Given the description of an element on the screen output the (x, y) to click on. 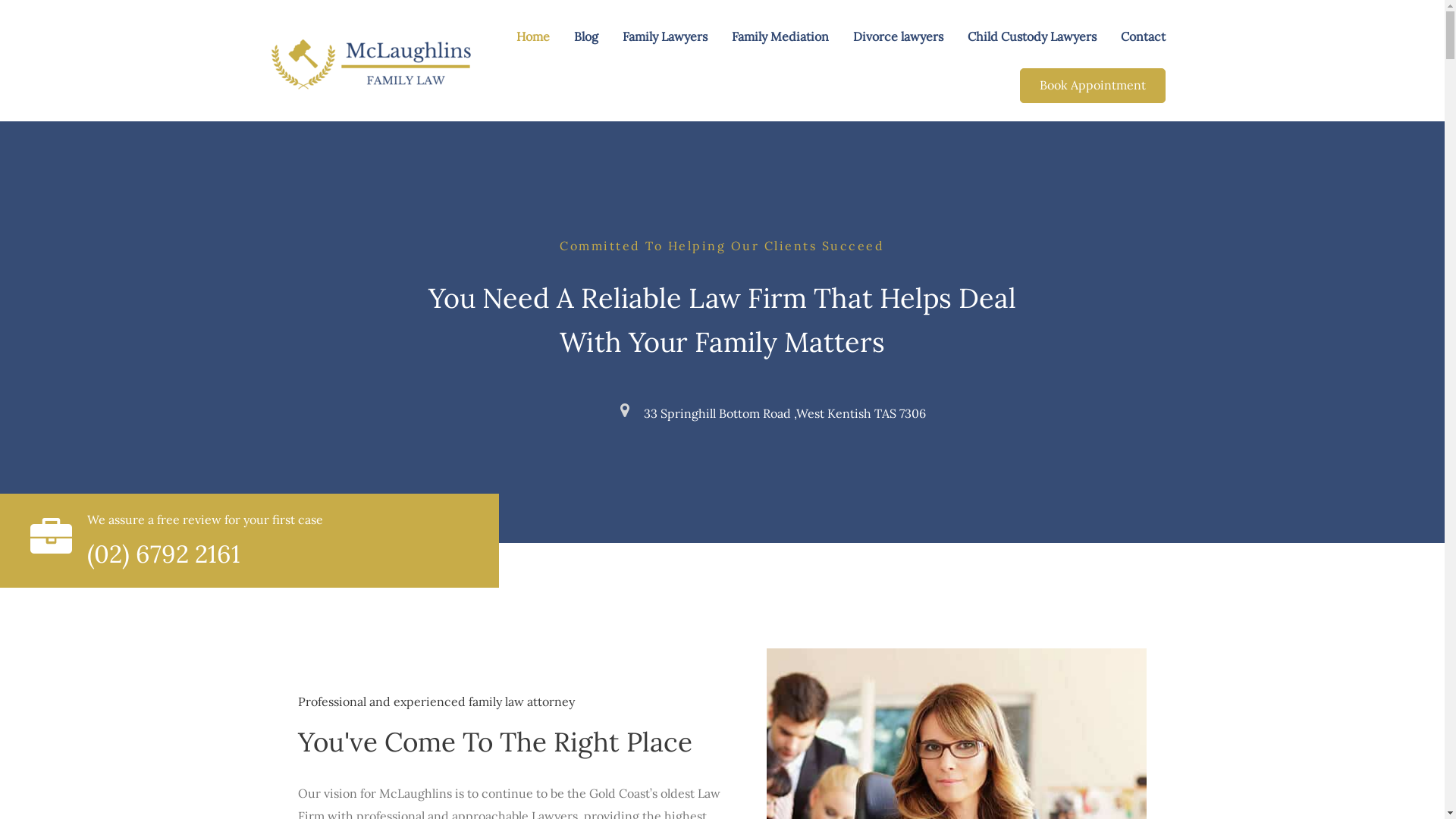
Family Mediation Element type: text (779, 36)
Book Appointment Element type: text (1091, 85)
We assure a free review for your first case Element type: text (205, 519)
Book Appointment Element type: text (1091, 84)
Blog Element type: text (585, 36)
Divorce lawyers Element type: text (897, 36)
Child Custody Lawyers Element type: text (1031, 36)
Contact Element type: text (1142, 36)
Home Element type: text (532, 36)
Family Lawyers Element type: text (663, 36)
